Given the description of an element on the screen output the (x, y) to click on. 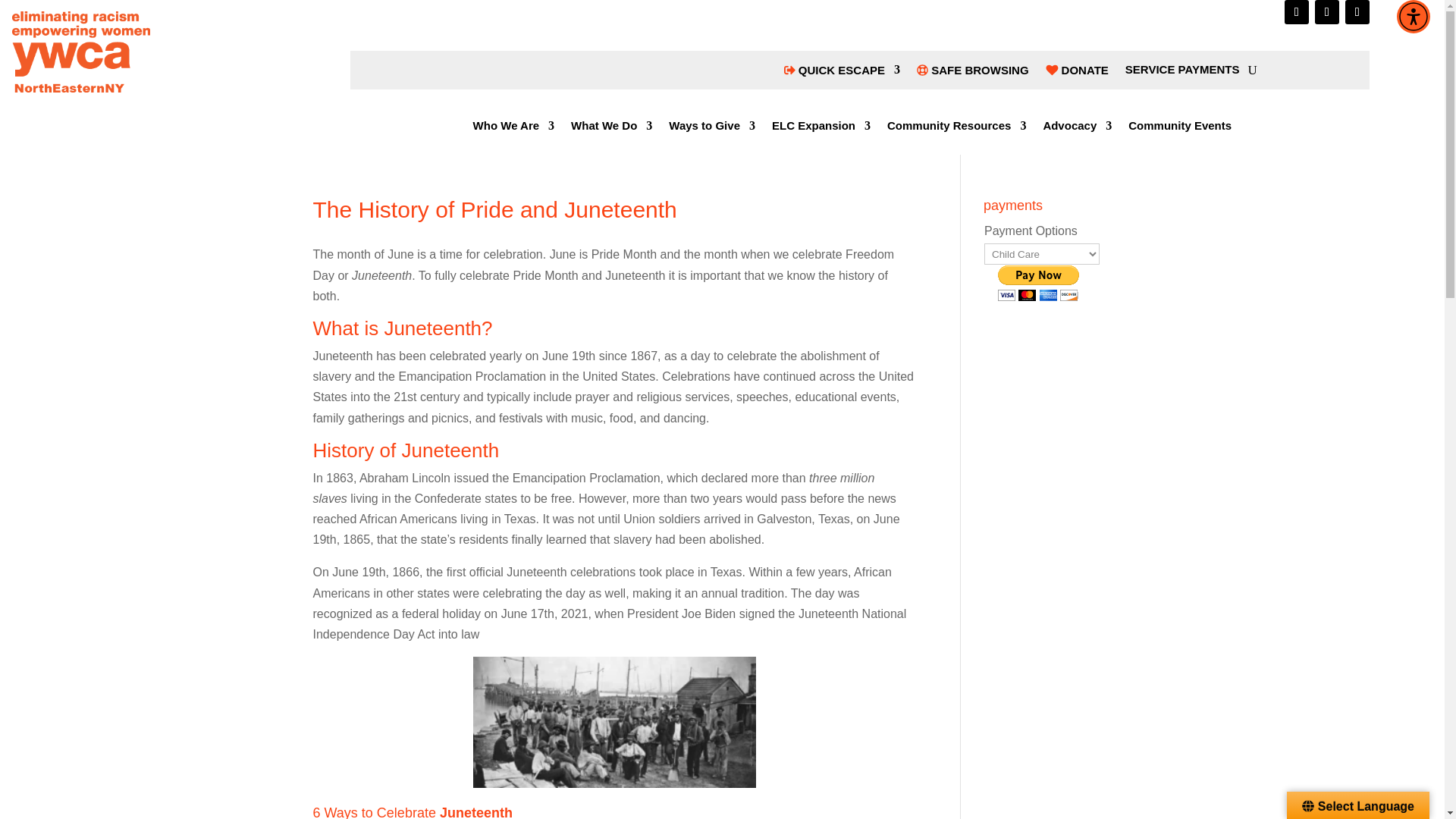
Follow on LinkedIn (1357, 12)
Who We Are (513, 128)
Follow on Facebook (1296, 12)
SAFE BROWSING (973, 72)
Accessibility Menu (1412, 16)
Ways to Give (711, 128)
Follow on Instagram (1326, 12)
SERVICE PAYMENTS (1182, 72)
What We Do (611, 128)
QUICK ESCAPE (841, 72)
DONATE (1076, 72)
